Given the description of an element on the screen output the (x, y) to click on. 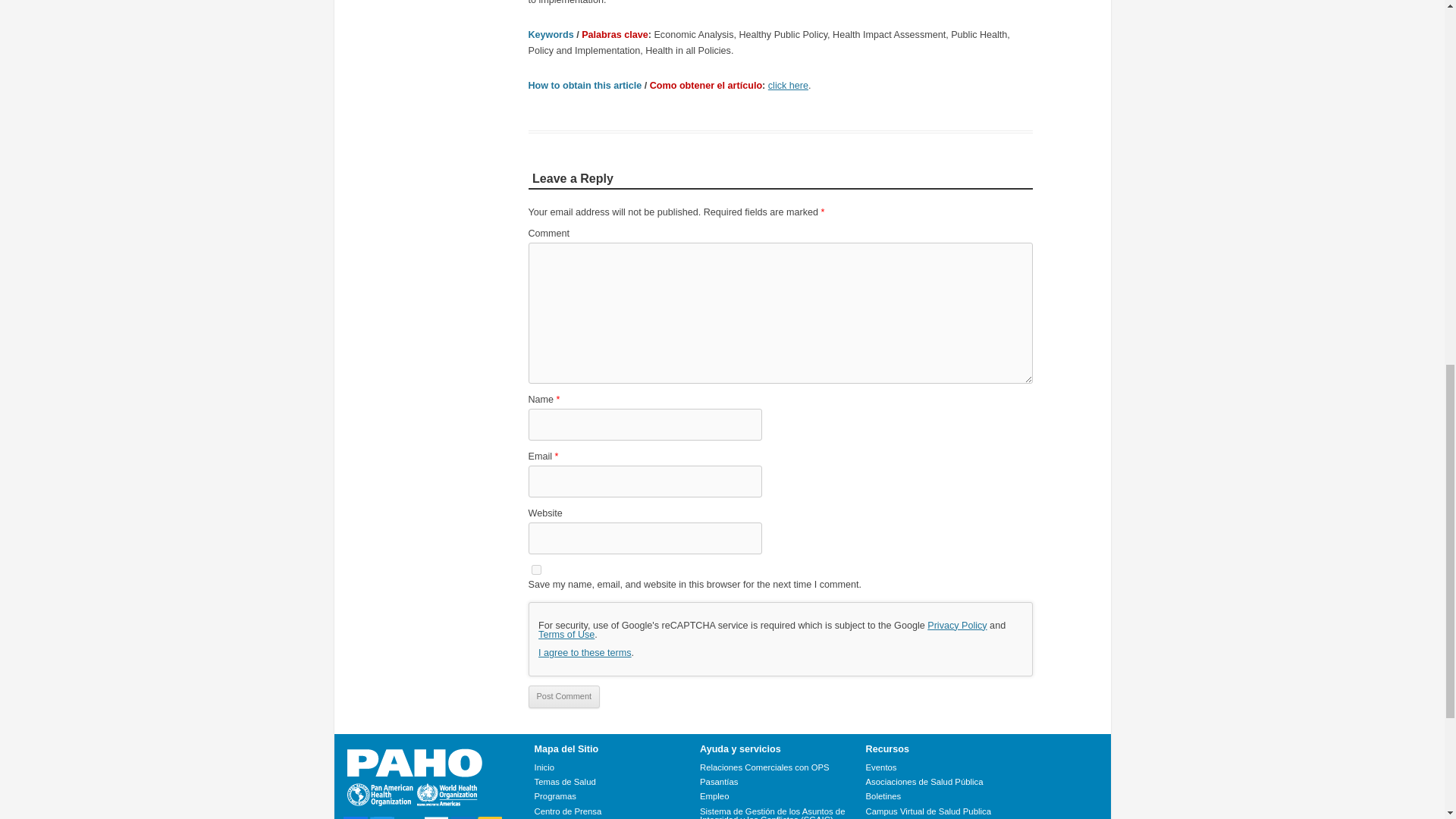
I agree to these terms (584, 652)
Post Comment (563, 696)
yes (535, 569)
Privacy Policy (957, 624)
click here (788, 85)
Post Comment (563, 696)
Terms of Use (566, 634)
